Given the description of an element on the screen output the (x, y) to click on. 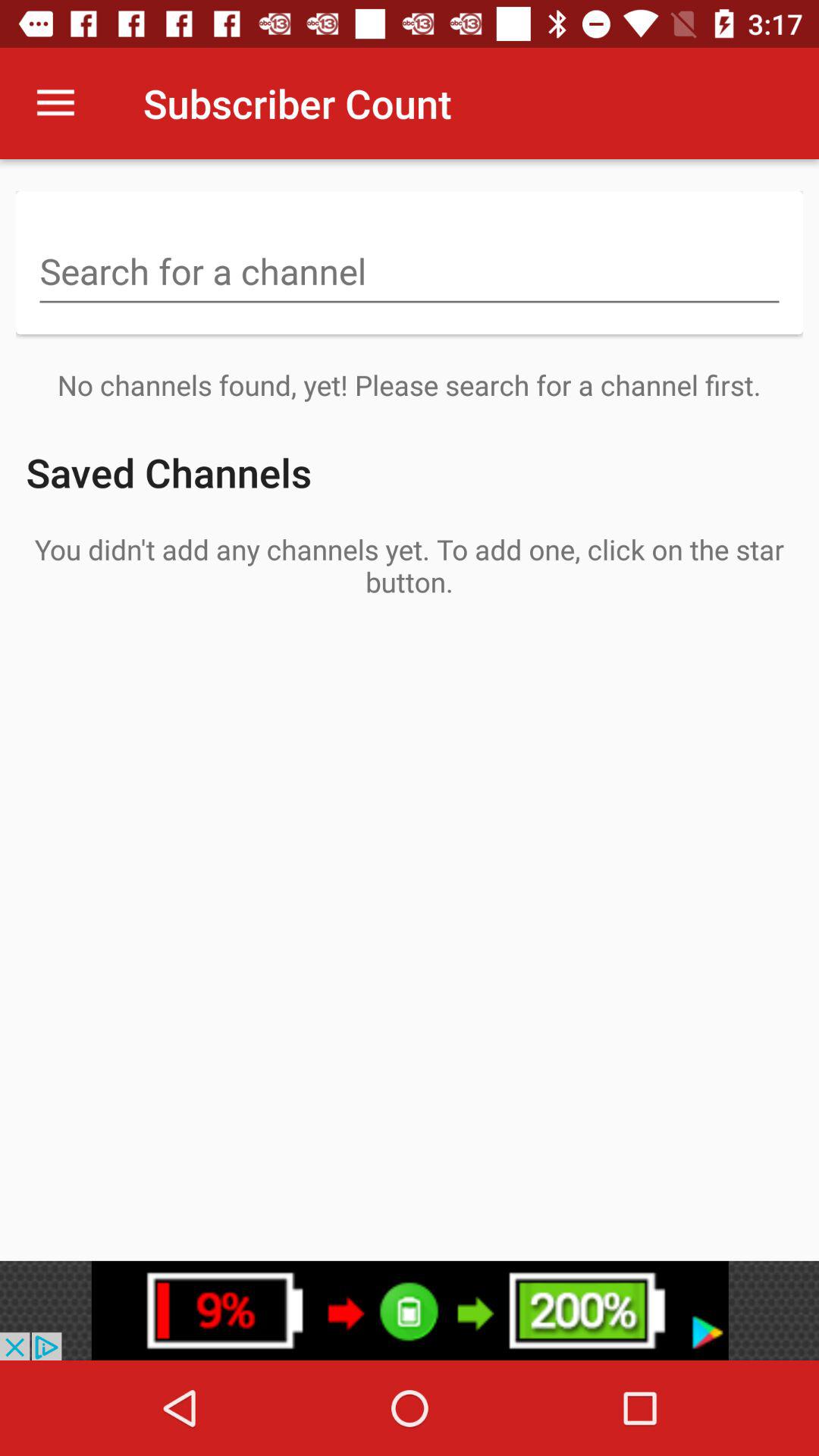
text search field (409, 273)
